Given the description of an element on the screen output the (x, y) to click on. 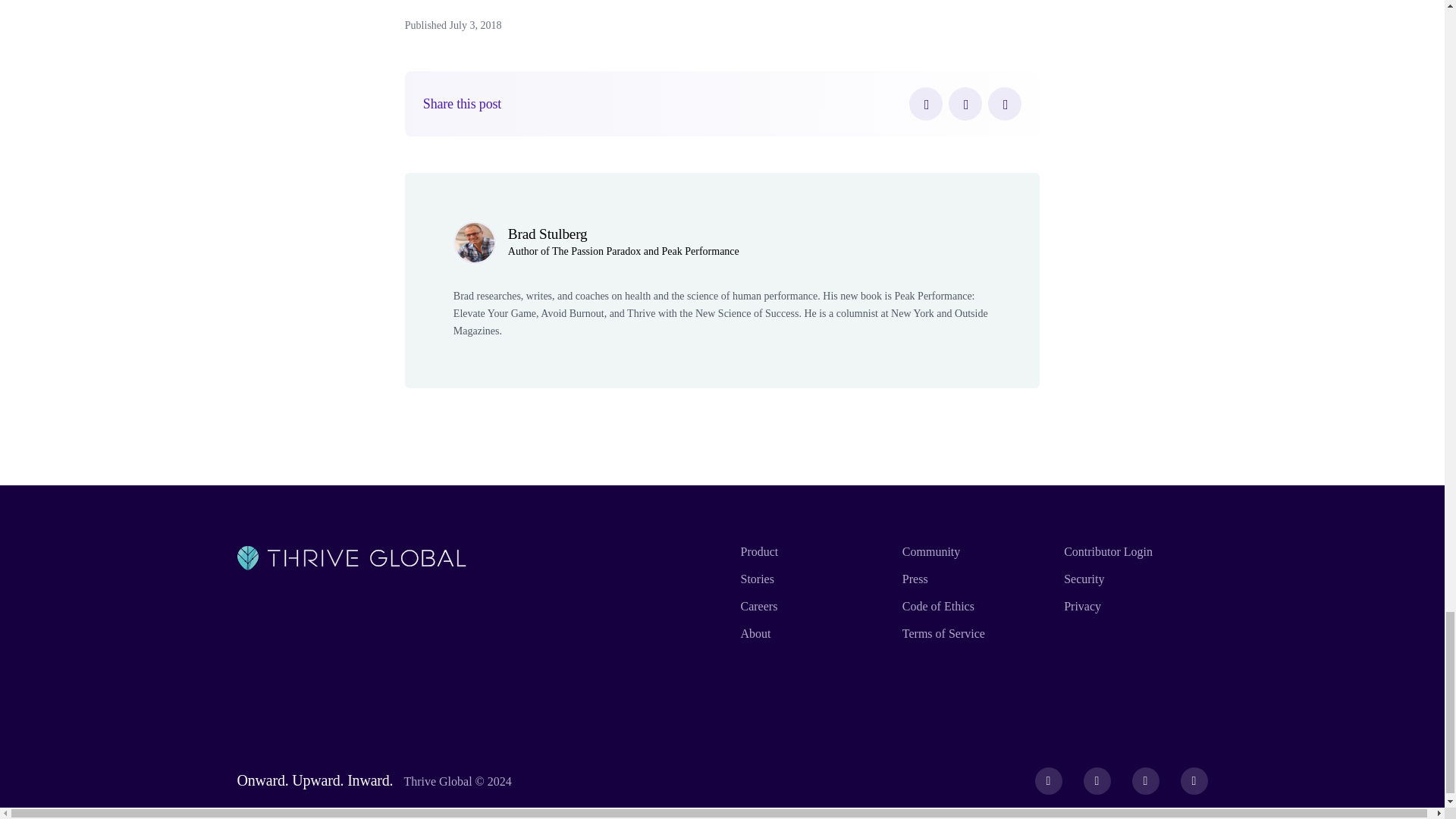
LinkedIn (1005, 103)
Twitter (965, 103)
Brad Stulberg (548, 233)
Facebook (925, 103)
